Given the description of an element on the screen output the (x, y) to click on. 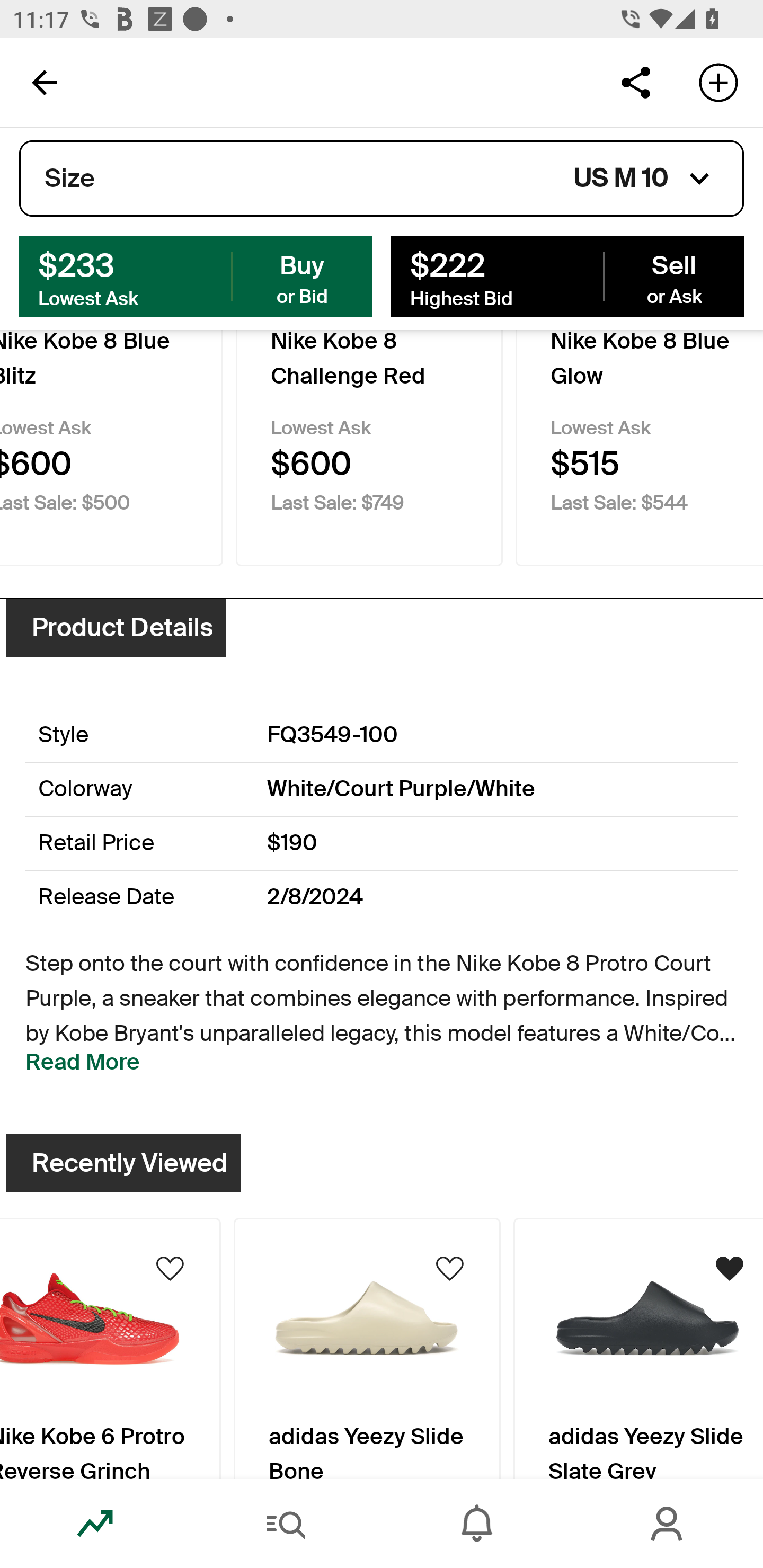
Share (635, 81)
Add (718, 81)
Size US M 10 (381, 178)
$233 Buy Lowest Ask or Bid (195, 275)
$222 Sell Highest Bid or Ask (566, 275)
Read More (82, 1061)
Product Image Nike Kobe 6 Protro Reverse Grinch (110, 1348)
Product Image adidas Yeezy Slide Bone (366, 1348)
Product Image adidas Yeezy Slide Slate Grey (638, 1348)
Search (285, 1523)
Inbox (476, 1523)
Account (667, 1523)
